Given the description of an element on the screen output the (x, y) to click on. 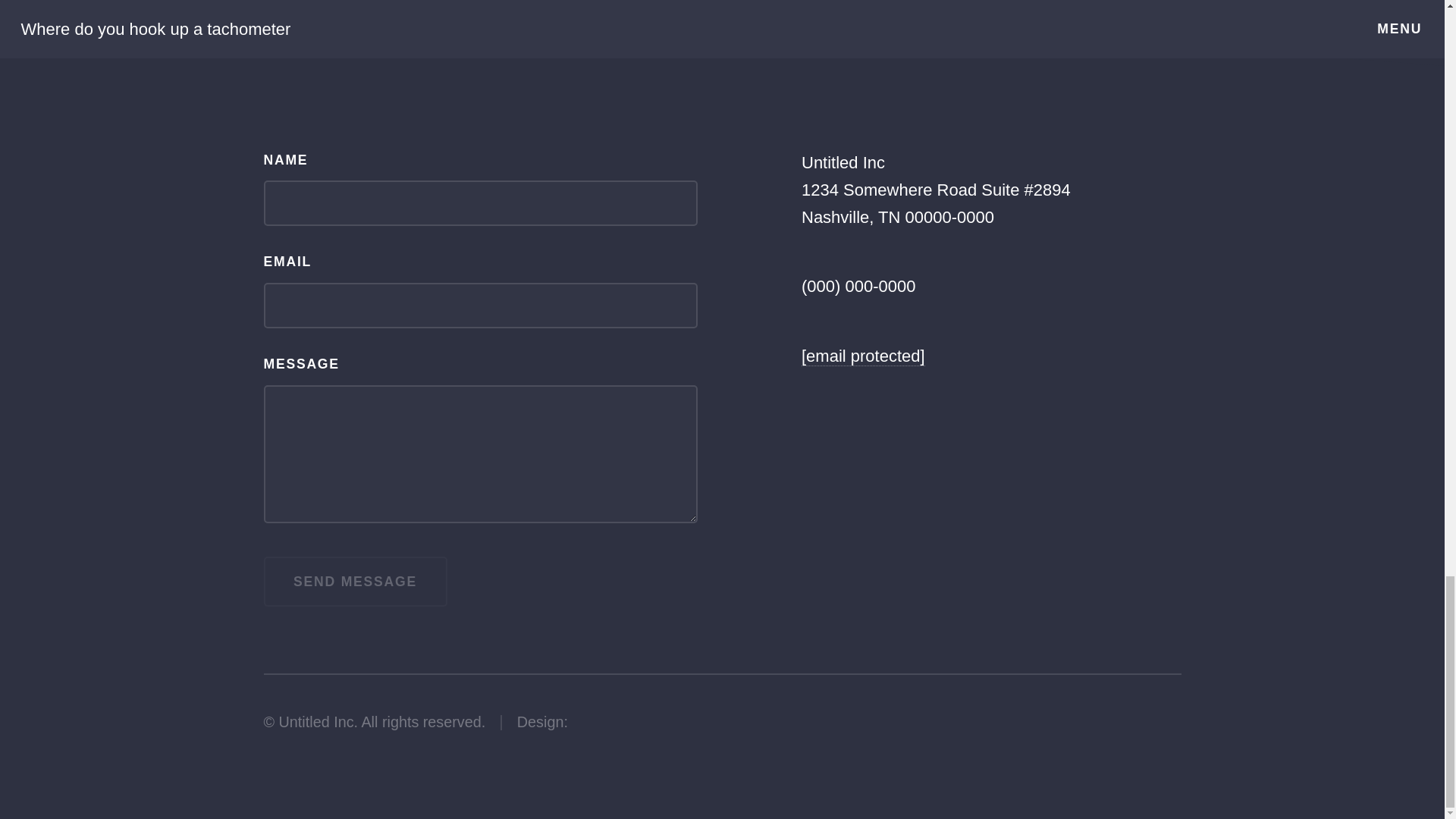
Send Message (354, 581)
Send Message (354, 581)
